Given the description of an element on the screen output the (x, y) to click on. 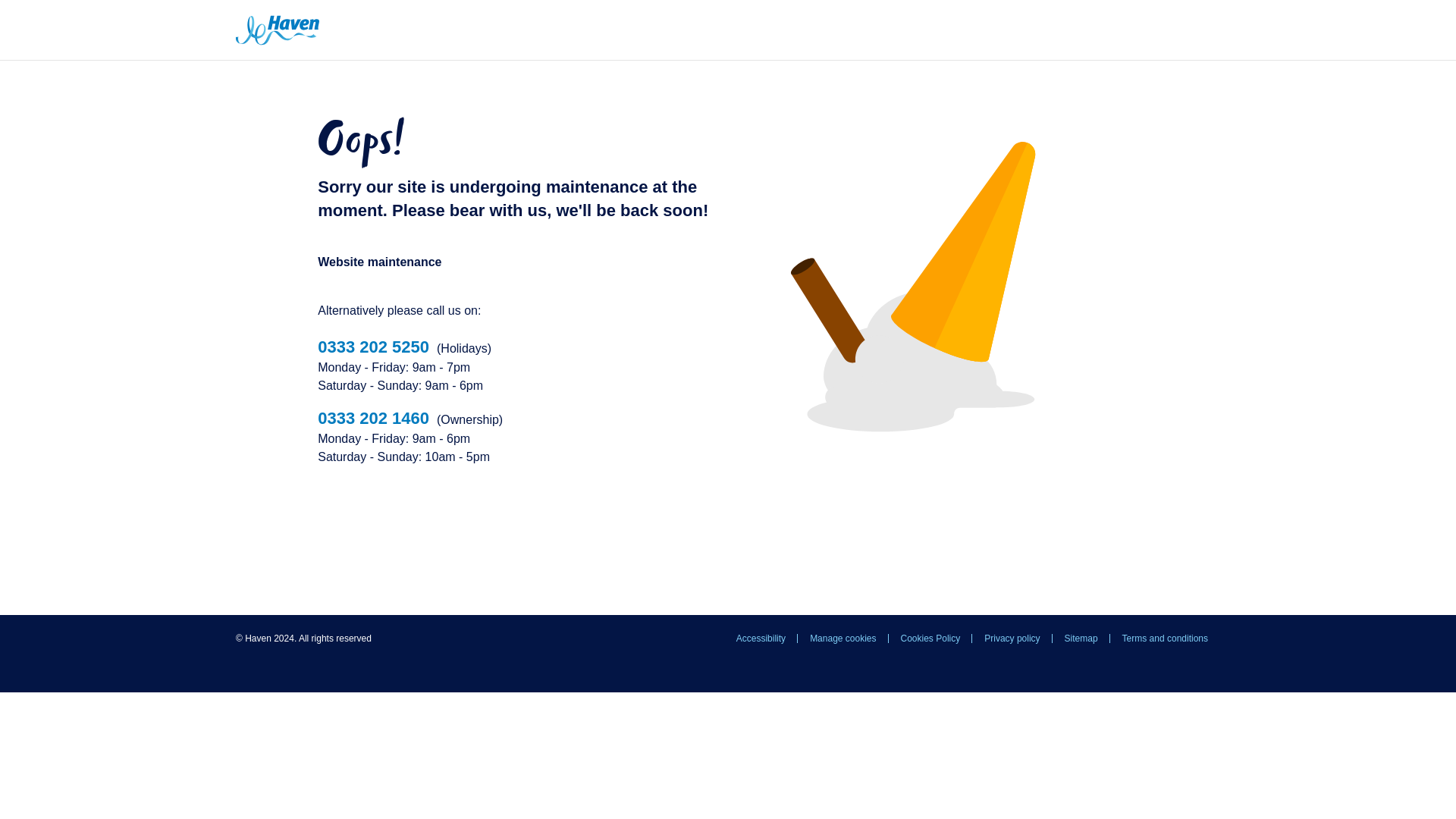
Accessibility (760, 638)
Cookies Policy (930, 638)
Privacy policy (1011, 638)
0333 202 5250 (373, 346)
Sitemap (1080, 638)
0333 202 1460 (373, 417)
Terms and conditions (1164, 638)
Manage cookies (842, 638)
